Given the description of an element on the screen output the (x, y) to click on. 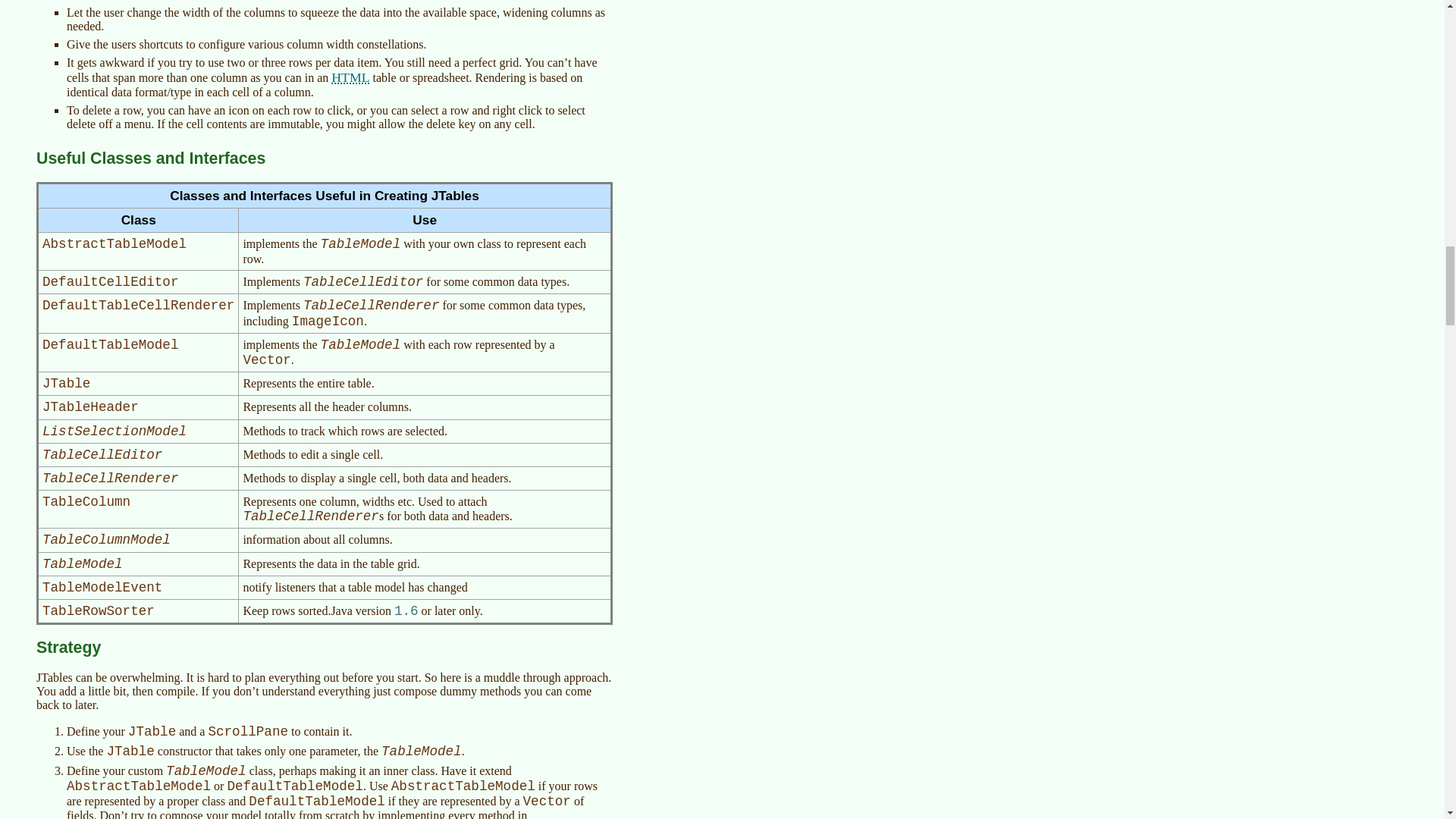
Hypertext Markup Language (350, 77)
